Given the description of an element on the screen output the (x, y) to click on. 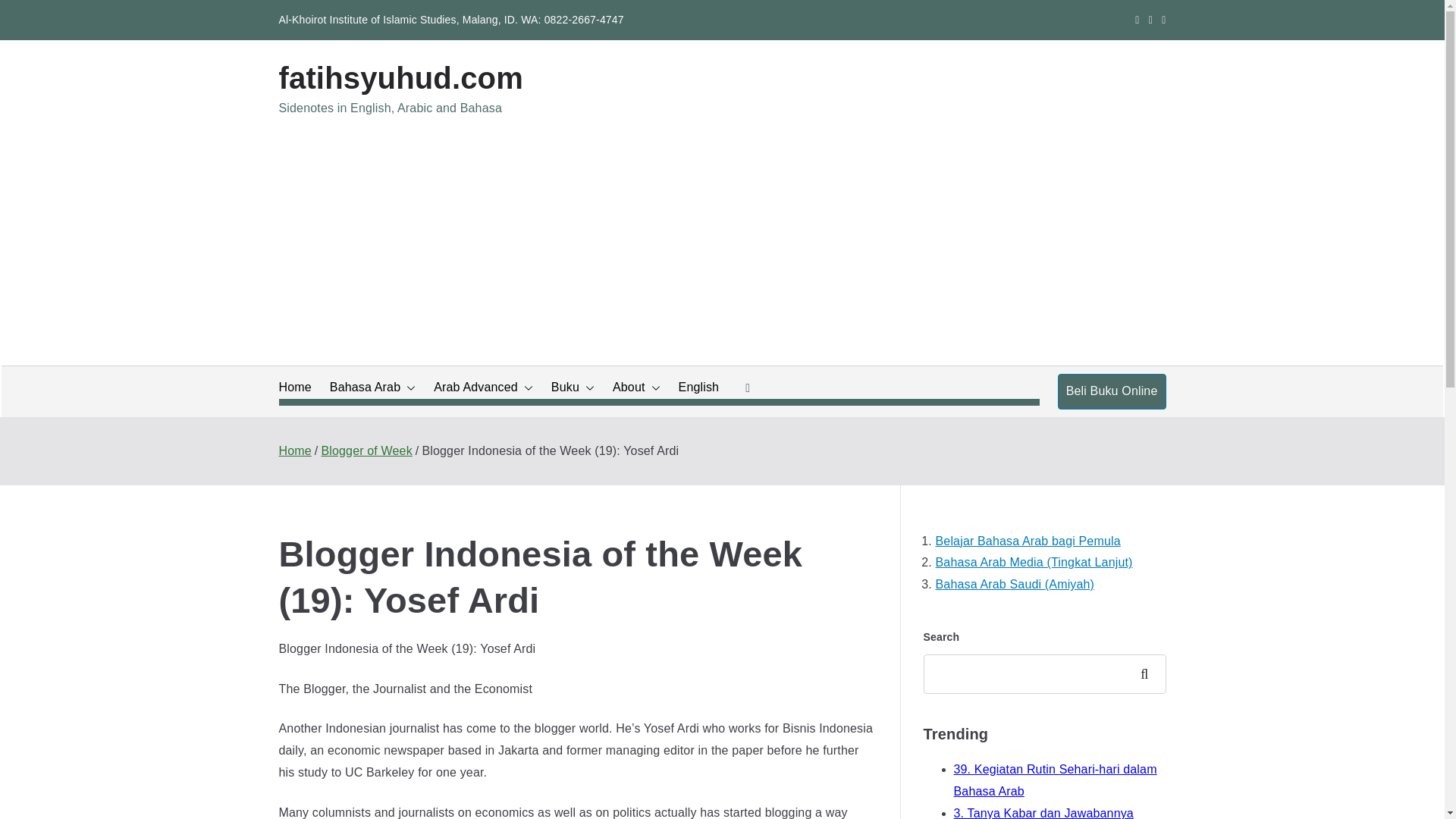
About (636, 387)
Arab Advanced (482, 387)
Bahasa Arab (372, 387)
fatihsyuhud.com (400, 78)
Daftar Lengkap Buku karya A. Fatih Syuhud (572, 387)
Buku (572, 387)
Home (295, 387)
